Given the description of an element on the screen output the (x, y) to click on. 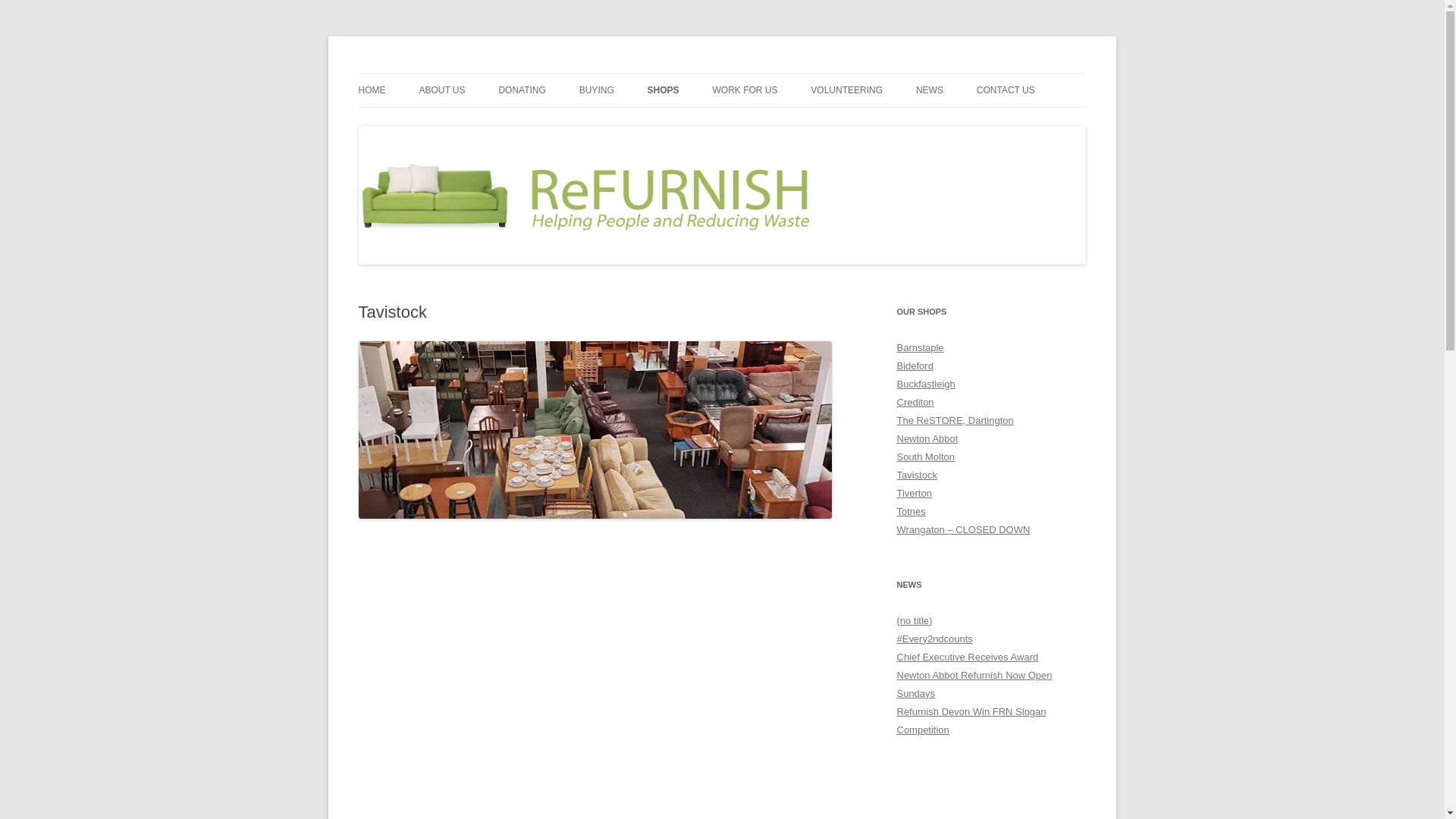
ReFURNISH (414, 72)
HOME (371, 90)
The ReSTORE, Dartington (954, 419)
Newton Abbot (927, 438)
BARNSTAPLE (723, 122)
false (813, 573)
Bideford (914, 365)
DONATING (520, 90)
VOLUNTEERING (846, 90)
ABOUT US (441, 90)
NEWS (929, 90)
South Molton (925, 456)
SHOPS (663, 90)
BUYING (596, 90)
